Given the description of an element on the screen output the (x, y) to click on. 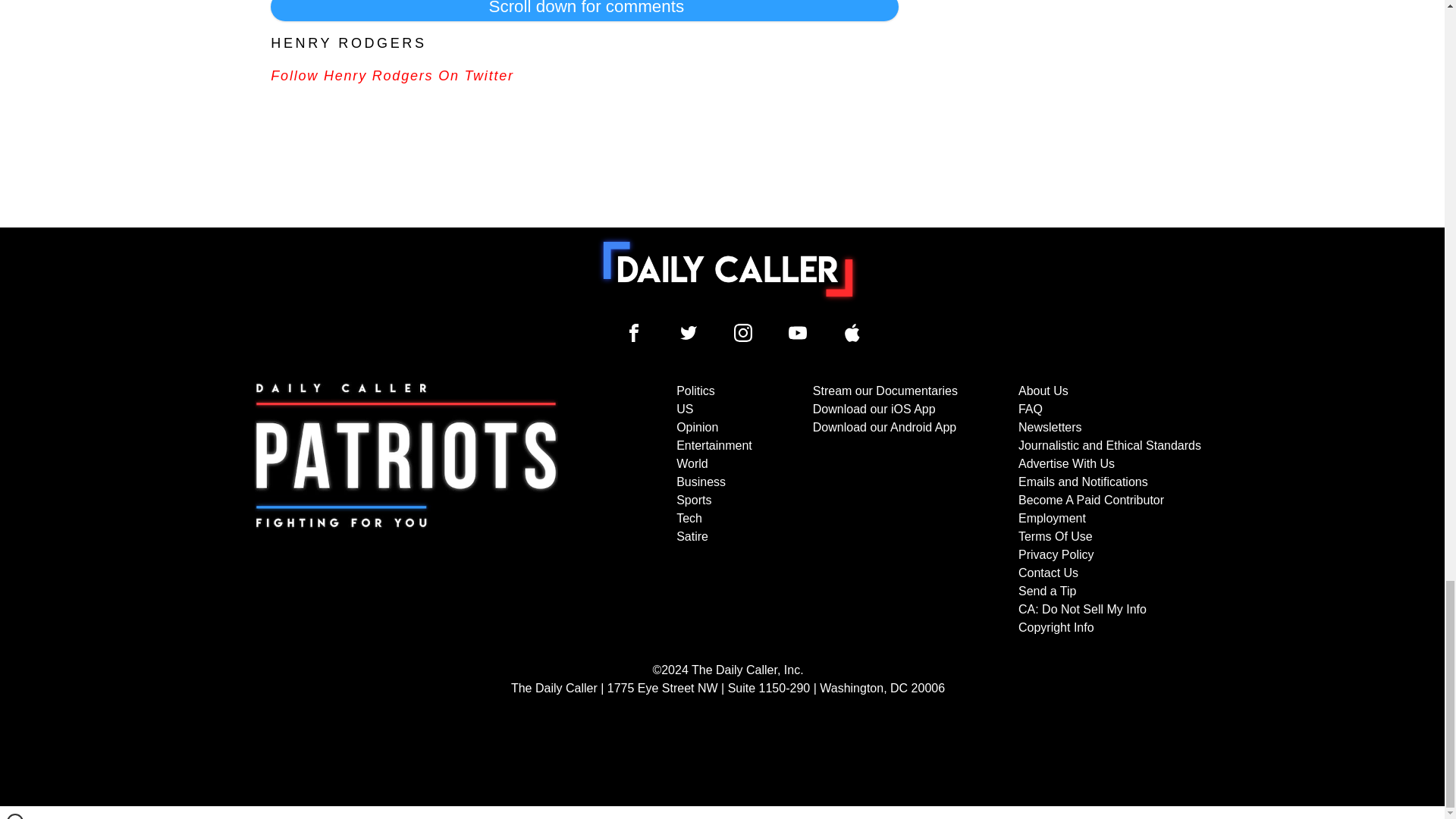
Daily Caller YouTube (797, 332)
Scroll down for comments (584, 10)
Daily Caller Twitter (688, 332)
Subscribe to The Daily Caller (405, 509)
Daily Caller Instagram (742, 332)
Daily Caller YouTube (852, 332)
Daily Caller Facebook (633, 332)
To home page (727, 268)
